Given the description of an element on the screen output the (x, y) to click on. 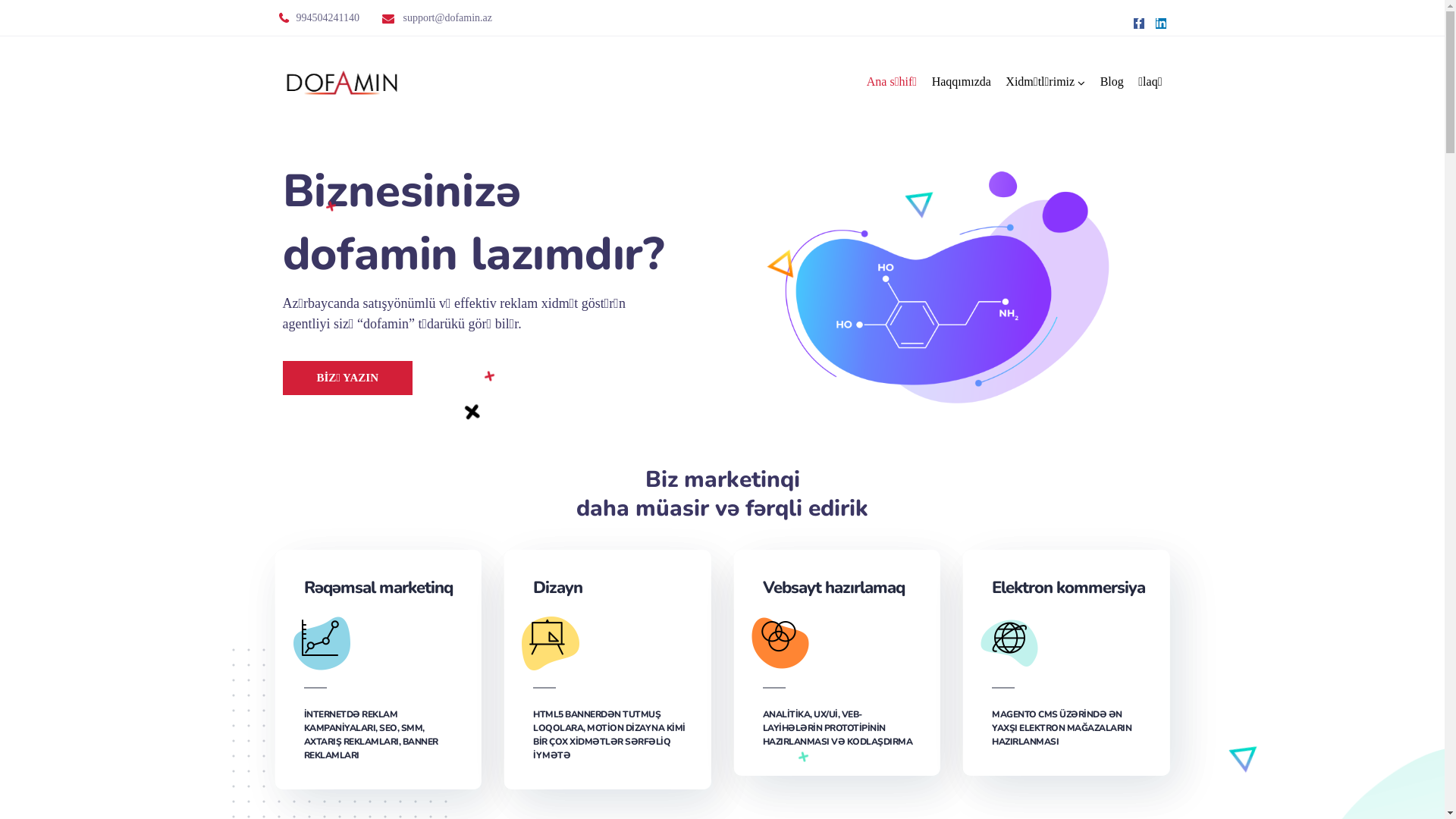
service_img4 Element type: hover (1009, 643)
Dizayn Element type: text (610, 588)
triangle Element type: hover (914, 198)
service_img1 Element type: hover (321, 643)
994504241140 Element type: text (326, 17)
Elektron kommersiya Element type: text (1069, 588)
triangle Element type: hover (1241, 752)
dofamin-loqo Element type: hover (341, 81)
dofamin Element type: hover (941, 281)
service_img2 Element type: hover (550, 643)
triangle Element type: hover (779, 256)
service_img3 Element type: hover (779, 643)
support@dofamin.az Element type: text (446, 17)
Blog Element type: text (1111, 81)
